Given the description of an element on the screen output the (x, y) to click on. 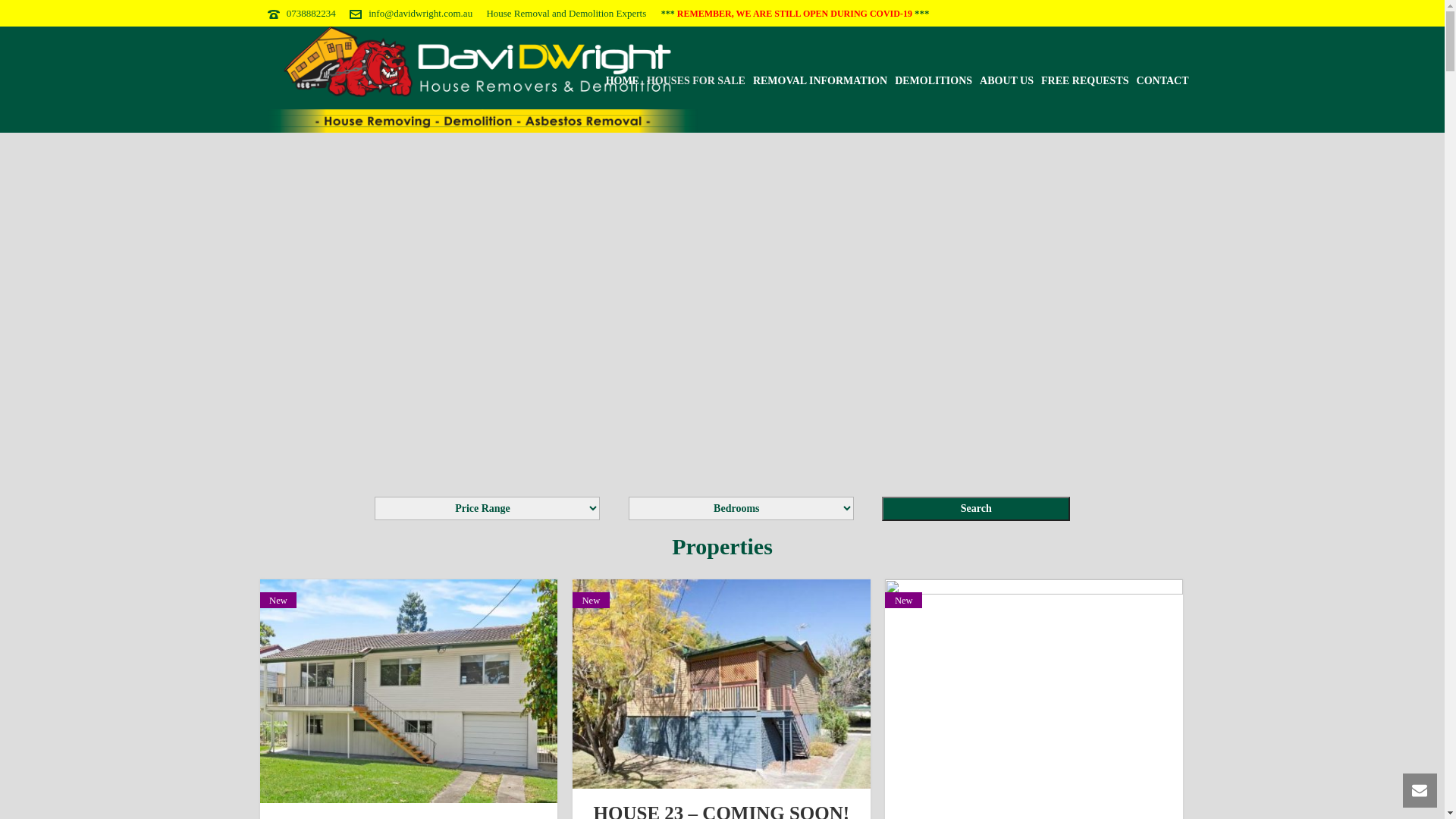
Search Element type: text (975, 508)
New Element type: text (721, 683)
info@davidwright.com.au Element type: text (420, 12)
New Element type: text (408, 691)
New Element type: text (1033, 691)
HOUSES FOR SALE Element type: text (696, 79)
House Removers P/L and Demolition Element type: hover (481, 79)
REMEMBER, WE ARE STILL OPEN DURING COVID-19 Element type: text (795, 13)
DEMOLITIONS Element type: text (933, 79)
REMOVAL INFORMATION Element type: text (820, 79)
0738882234 Element type: text (310, 12)
FREE REQUESTS Element type: text (1084, 79)
ABOUT US Element type: text (1006, 79)
CONTACT Element type: text (1162, 79)
HOME Element type: text (622, 79)
*** Element type: text (669, 13)
